Given the description of an element on the screen output the (x, y) to click on. 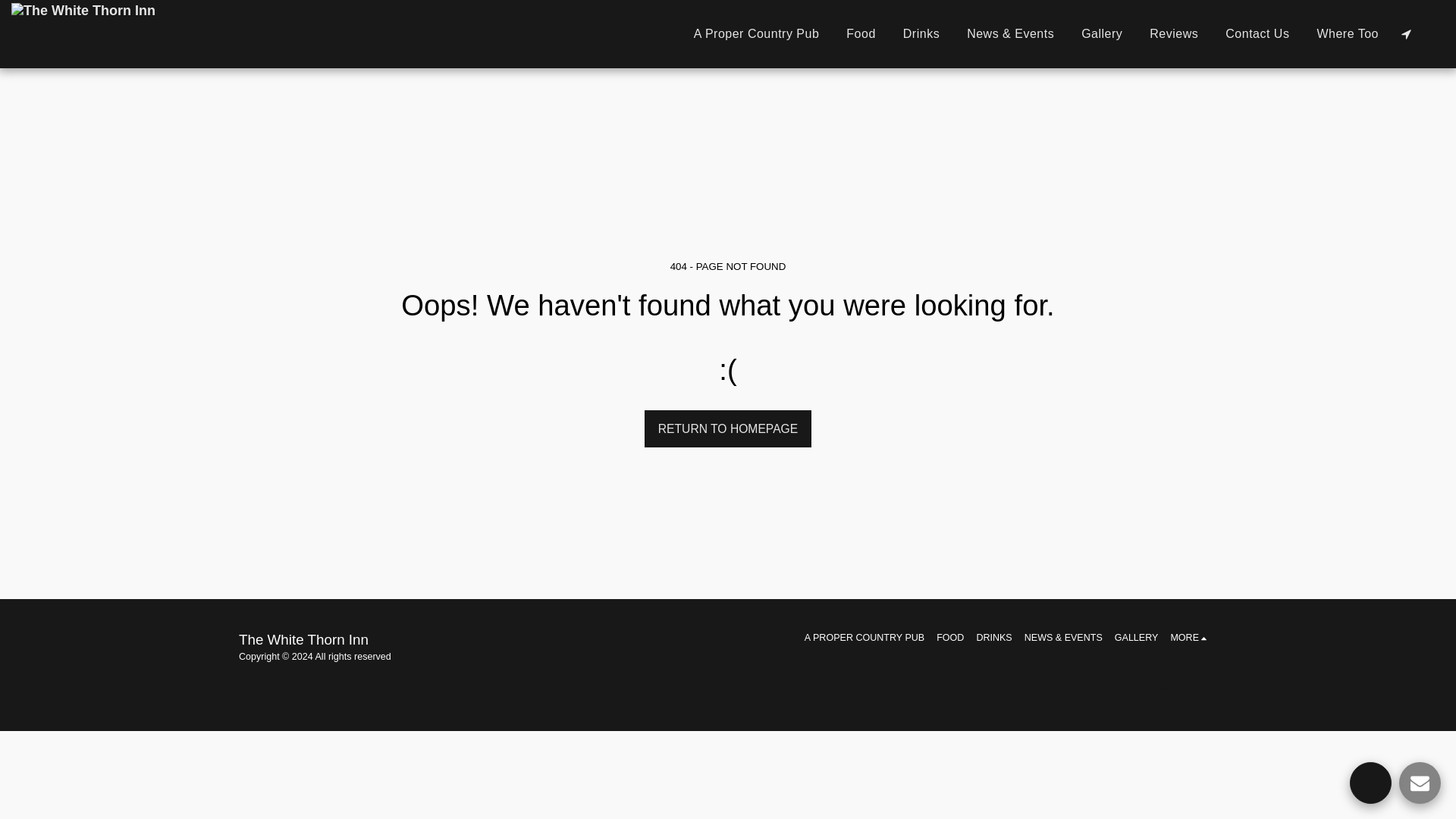
FOOD (949, 637)
Reviews (1173, 33)
A Proper Country Pub (756, 33)
Drinks (921, 33)
Food (860, 33)
Contact Us (1256, 33)
Where Too (1347, 33)
Gallery (1101, 33)
GALLERY (1136, 637)
MORE   (1190, 637)
A PROPER COUNTRY PUB (864, 637)
